Given the description of an element on the screen output the (x, y) to click on. 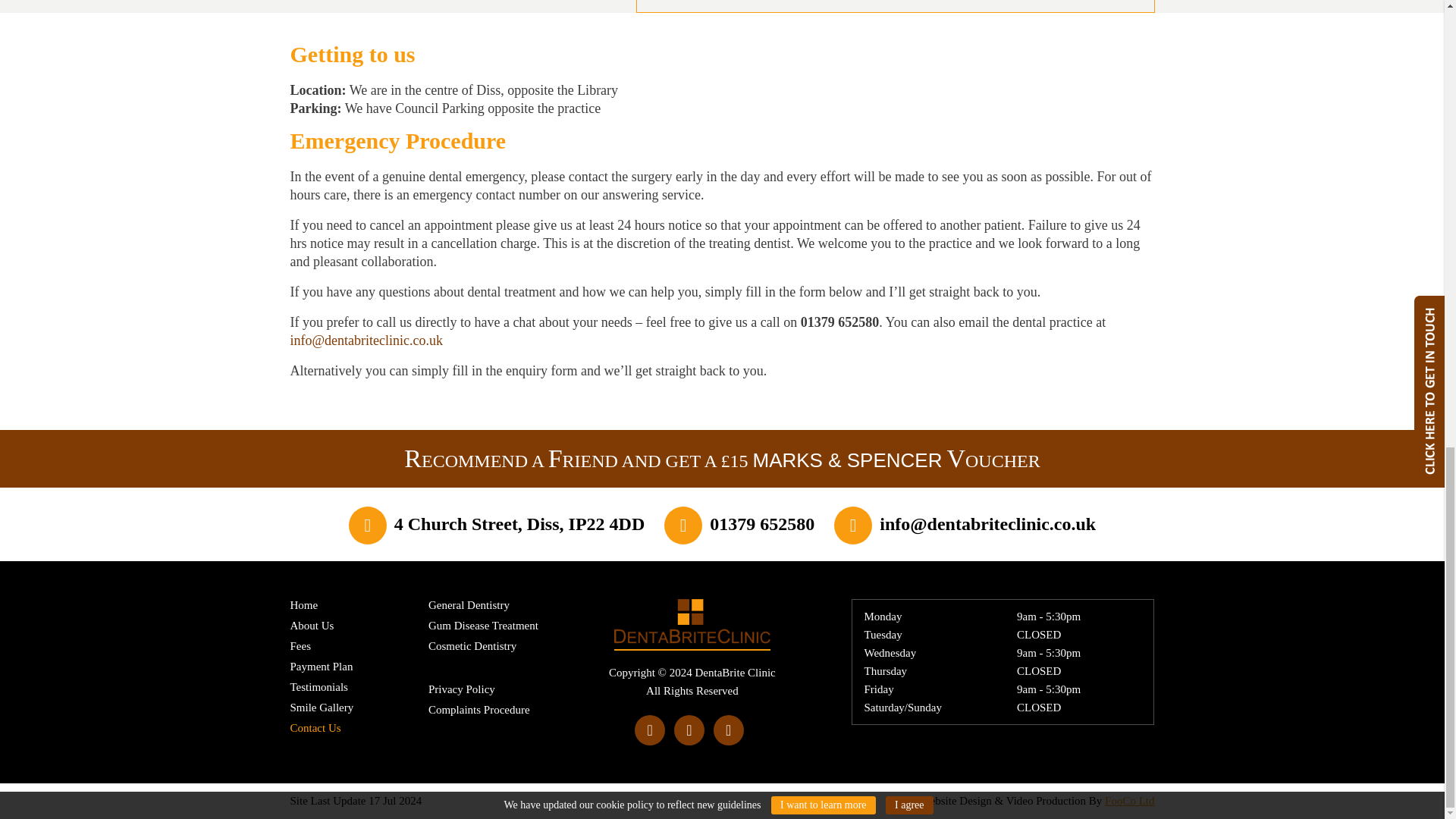
Complaints Procedure (478, 709)
FooCo Ltd (1129, 800)
01379 652580 (761, 523)
About Us (311, 625)
Gum Disease Treatment (483, 625)
Cosmetic Dentistry (472, 645)
Mail (987, 523)
General Dentistry (468, 604)
Payment Plan (320, 666)
Privacy Policy (461, 689)
Testimonials (318, 686)
Contact Us (314, 727)
Home (303, 604)
FooCo Ltd (1129, 800)
Smile Gallery (321, 707)
